Given the description of an element on the screen output the (x, y) to click on. 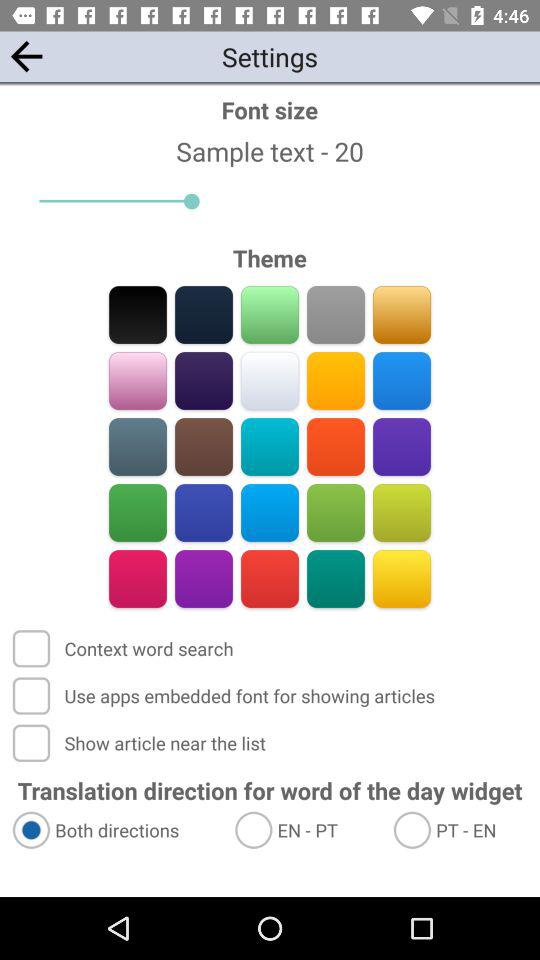
theme option (269, 380)
